Given the description of an element on the screen output the (x, y) to click on. 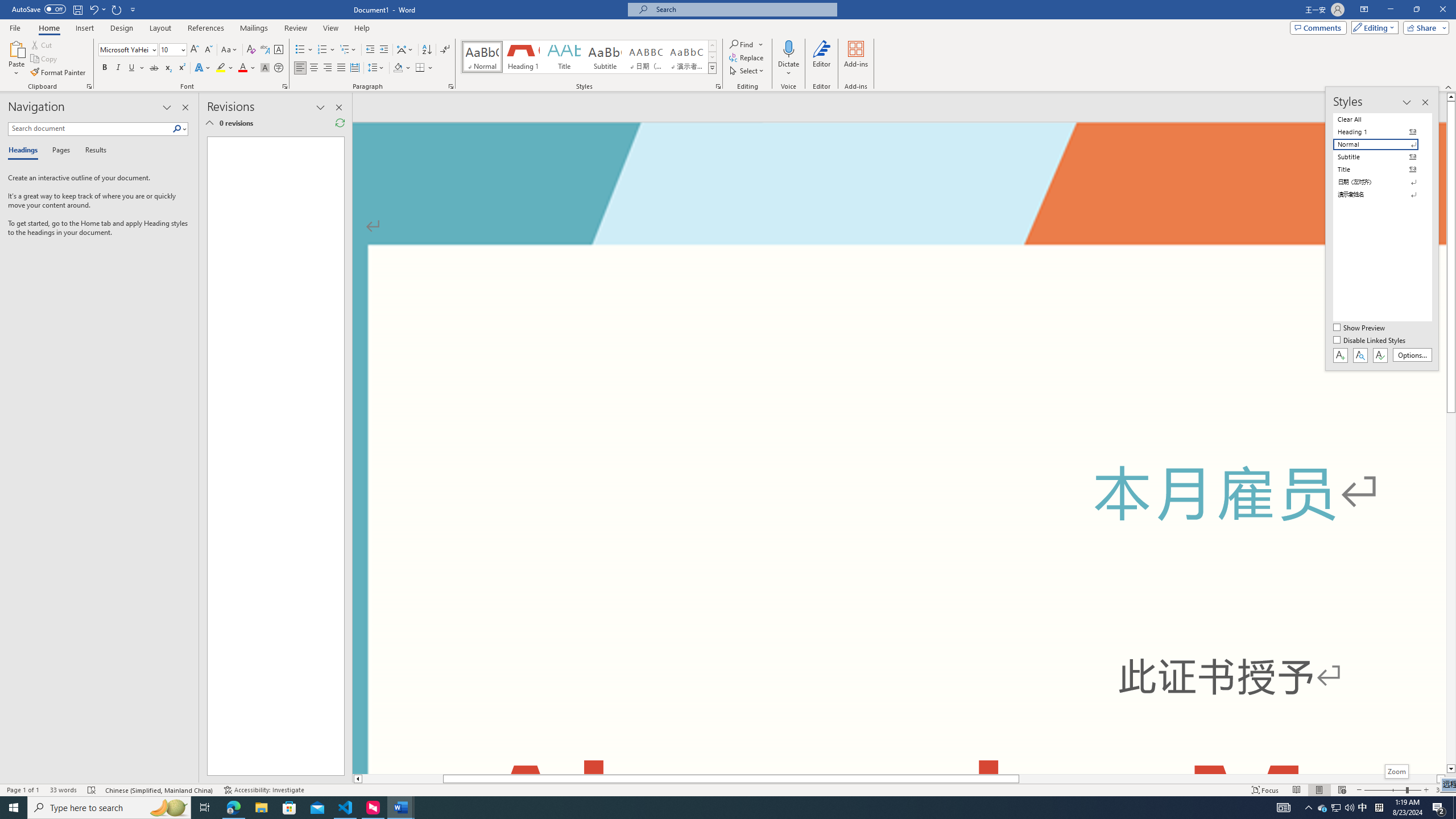
Page 1 content (898, 489)
Page left (402, 778)
Clear All (1382, 119)
Heading 1 (522, 56)
Page down (1450, 588)
Options... (1412, 354)
Class: NetUIButton (1380, 355)
Normal (1382, 144)
